Given the description of an element on the screen output the (x, y) to click on. 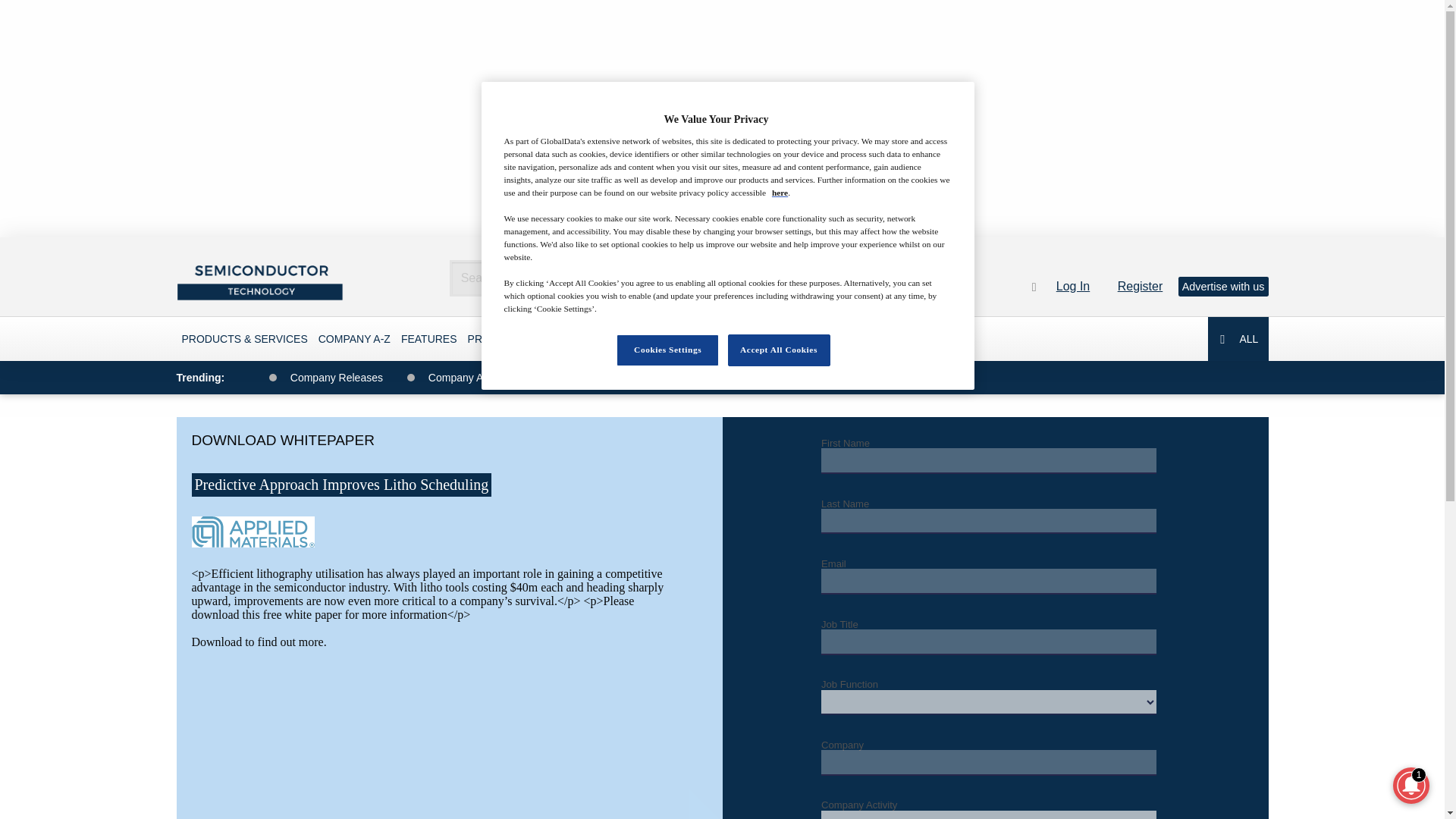
Log In (1079, 286)
Search (858, 278)
Register (1146, 286)
Advertise with us (1222, 286)
